Given the description of an element on the screen output the (x, y) to click on. 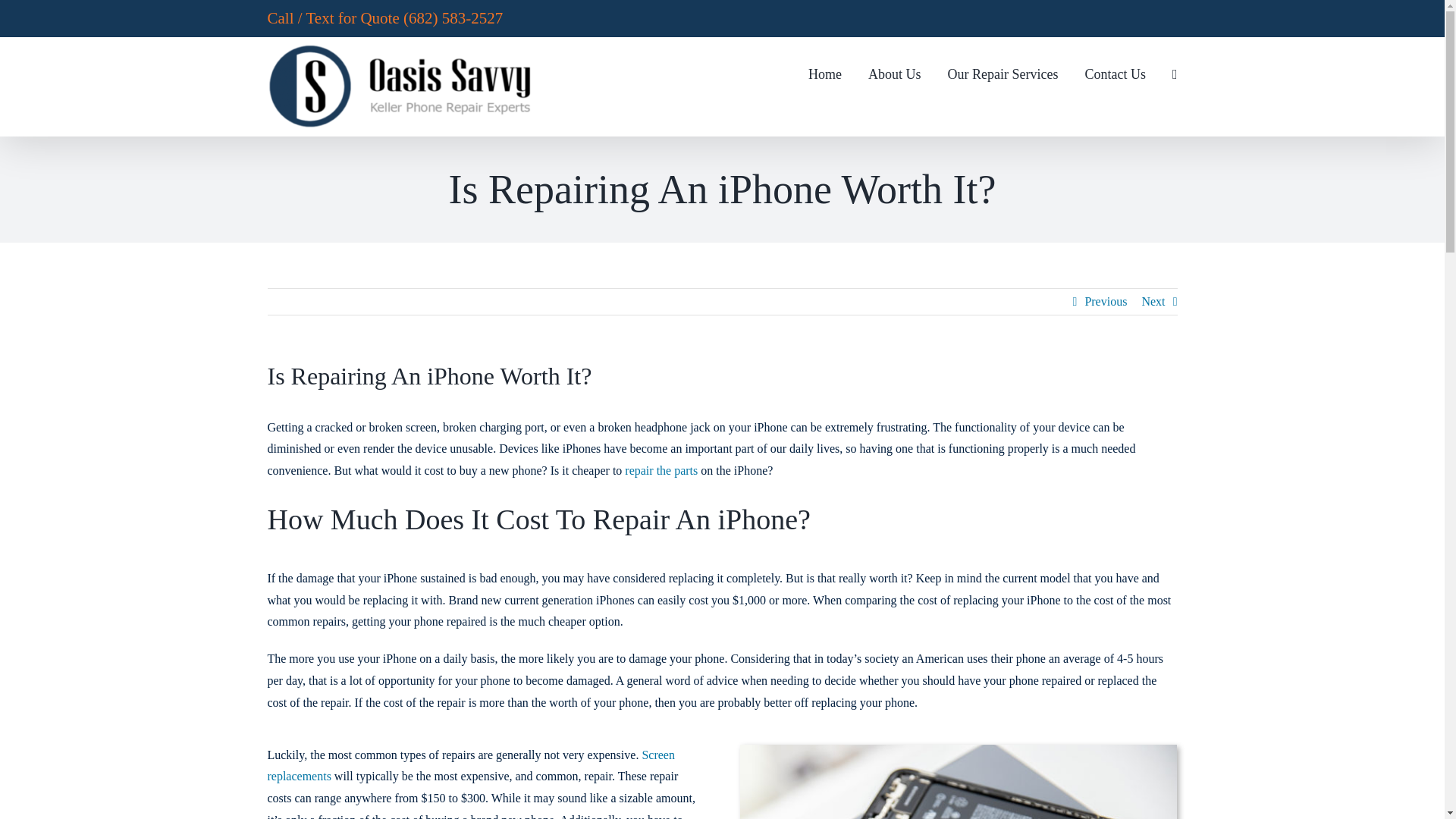
Our Repair Services (1002, 72)
repair the parts (660, 470)
Next (1152, 301)
Previous (1105, 301)
Screen replacements (470, 765)
Is Repairing An iPhone Worth It (957, 781)
